Given the description of an element on the screen output the (x, y) to click on. 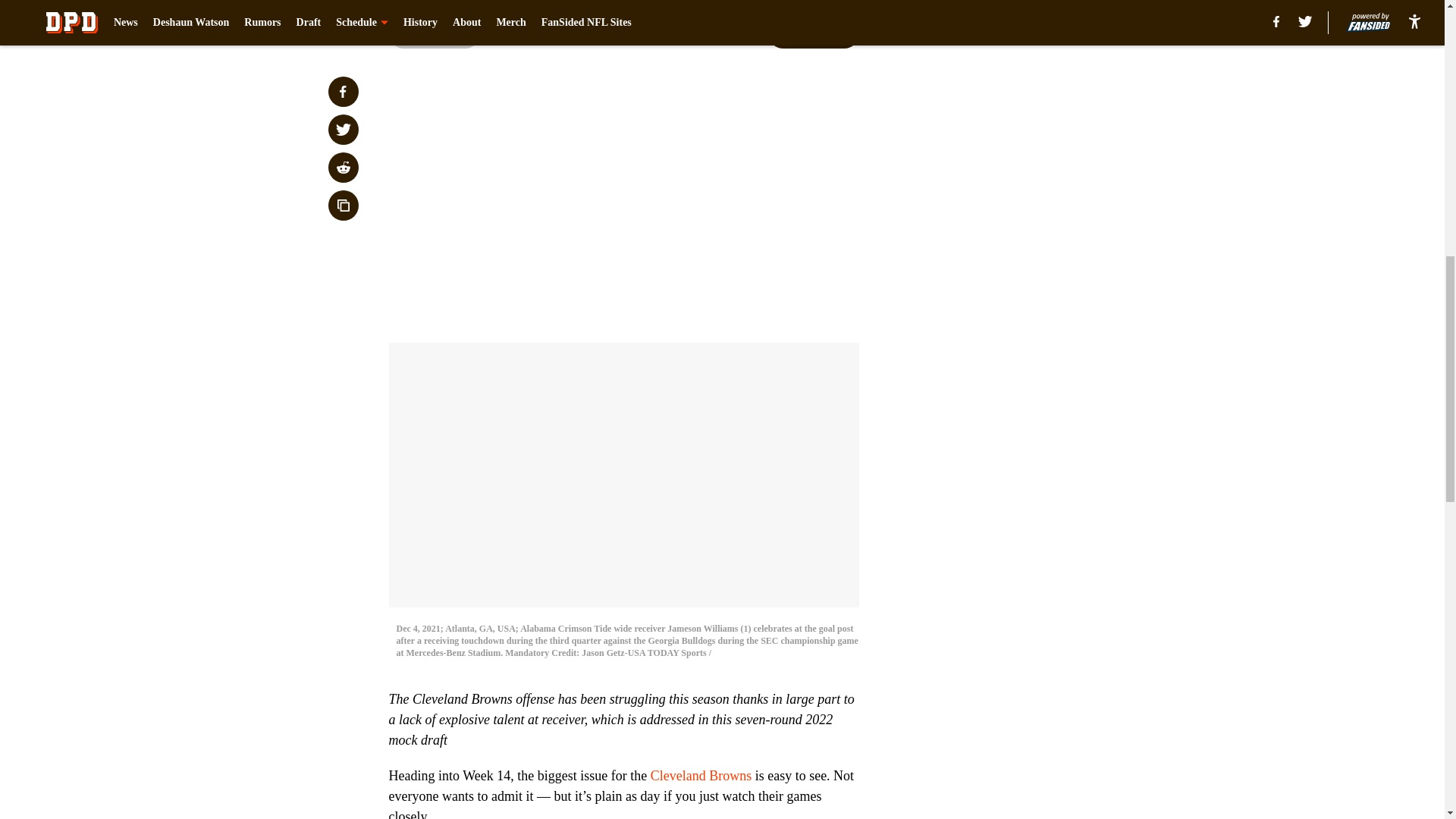
Prev (433, 33)
Cleveland Browns (700, 775)
Next (813, 33)
